Given the description of an element on the screen output the (x, y) to click on. 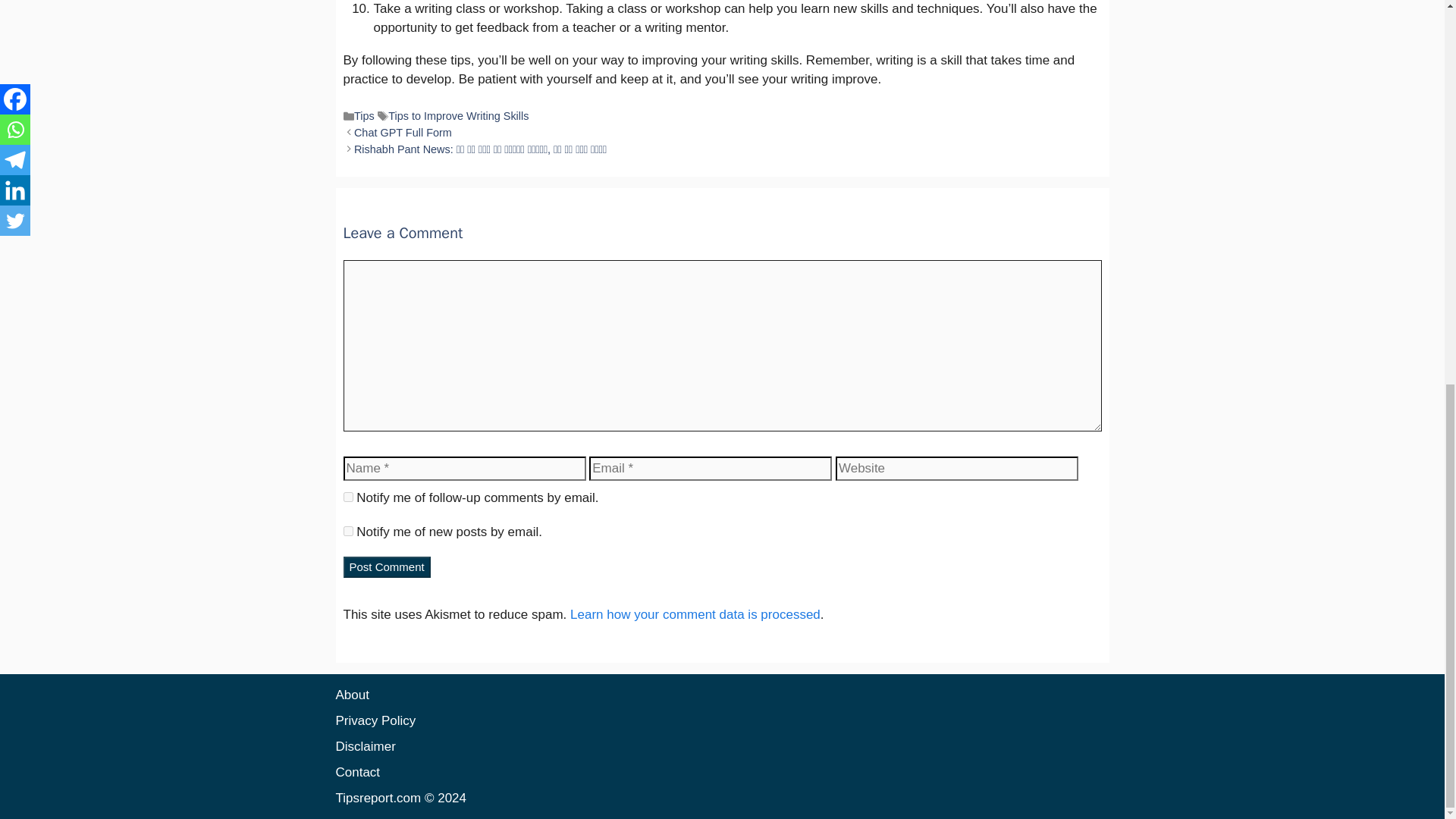
Learn how your comment data is processed (695, 614)
Privacy Policy (374, 720)
Post Comment (385, 567)
subscribe (347, 531)
About (351, 694)
Tips to Improve Writing Skills (458, 115)
subscribe (347, 497)
Disclaimer (364, 746)
Chat GPT Full Form (402, 132)
Tips (363, 115)
Contact (357, 771)
Post Comment (385, 567)
